Given the description of an element on the screen output the (x, y) to click on. 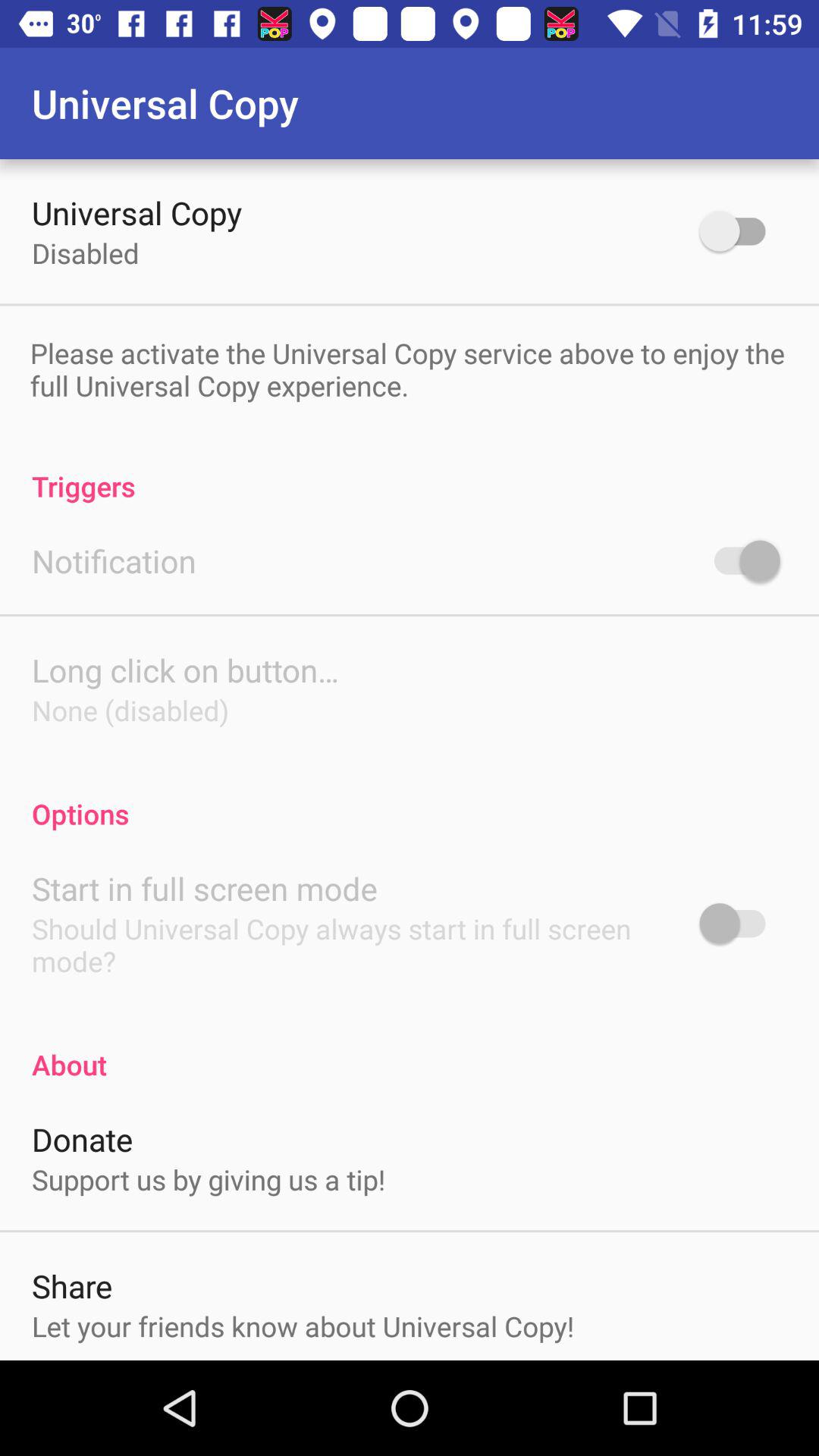
swipe until share (71, 1285)
